Given the description of an element on the screen output the (x, y) to click on. 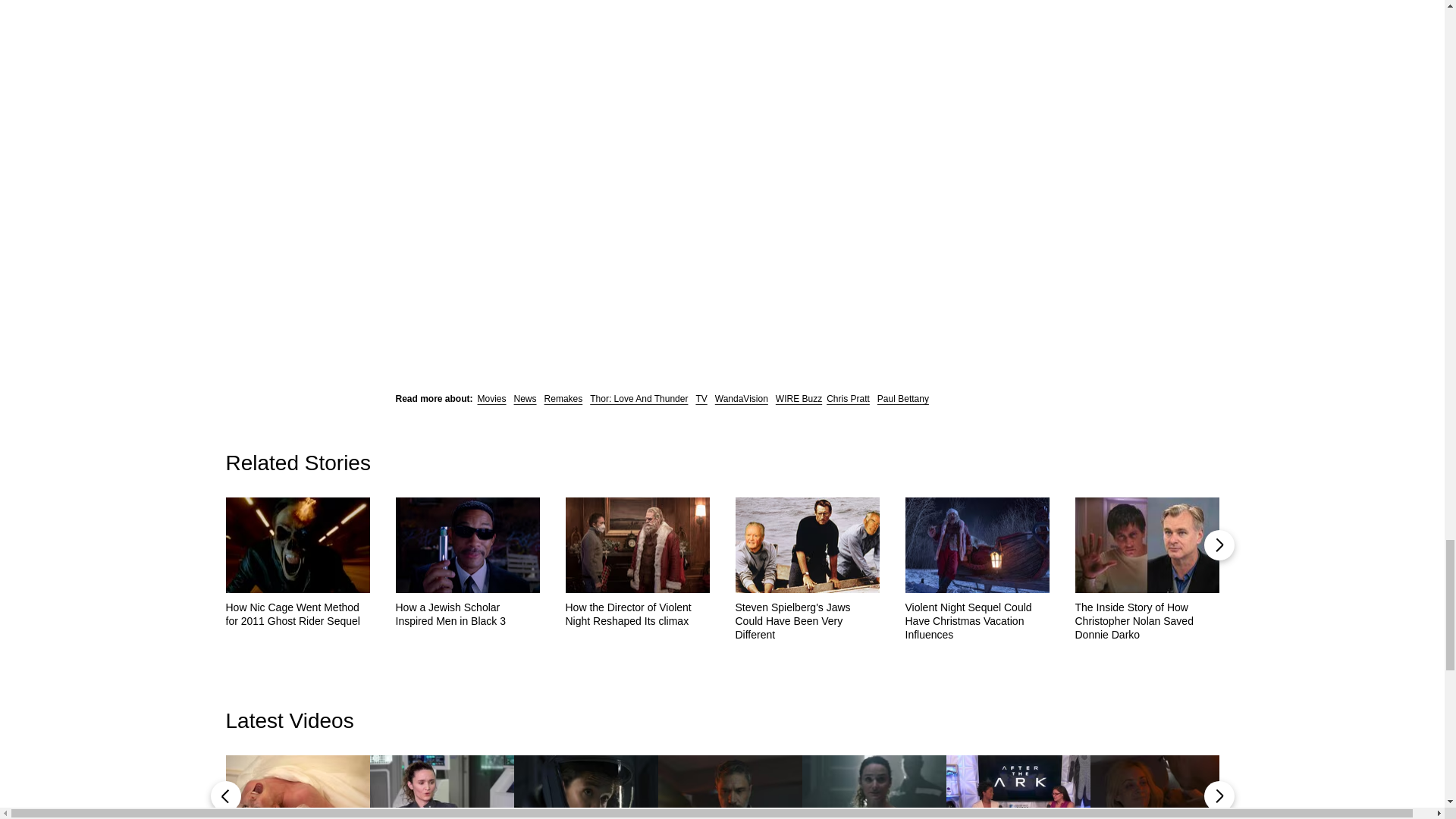
We're Back on Ark One: The Ark S2 E2 Sneak Peek (874, 787)
Management Not Labor: The Ark S2 E2 Highlight (585, 787)
After The Ark: Season 2, Episode 2 (441, 787)
Scare Tactics - Coming This Fall to USA Network (297, 787)
News (525, 398)
After the Ark: Season 2, Episode 1 (1018, 787)
Turn It Off: The Ark S2 E2 Highlight (730, 787)
Lucky Me: The Ark S2 E1 Highlight (1162, 787)
Movies (491, 398)
